Given the description of an element on the screen output the (x, y) to click on. 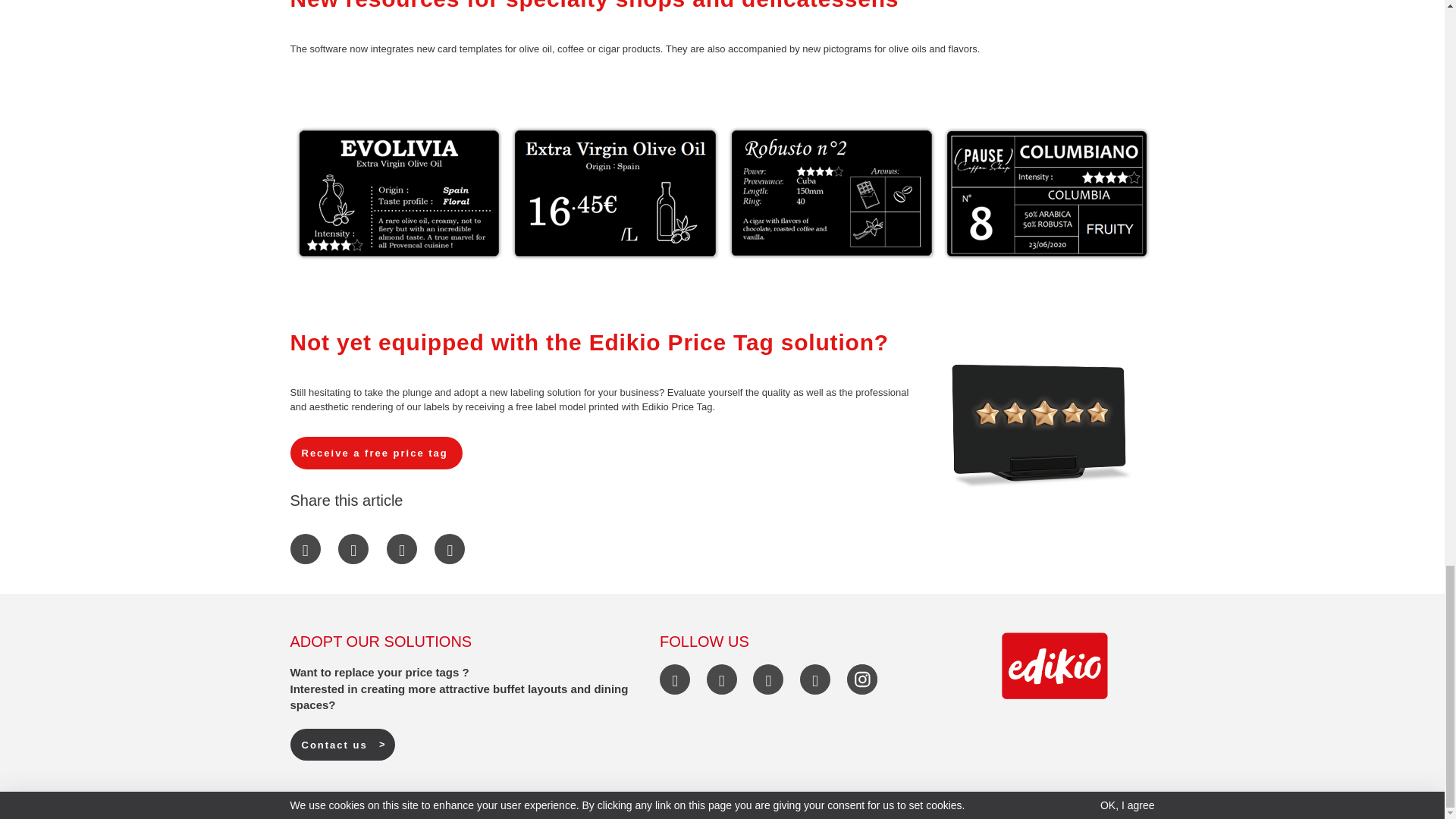
5 stars software (1040, 424)
Home (1054, 665)
